Given the description of an element on the screen output the (x, y) to click on. 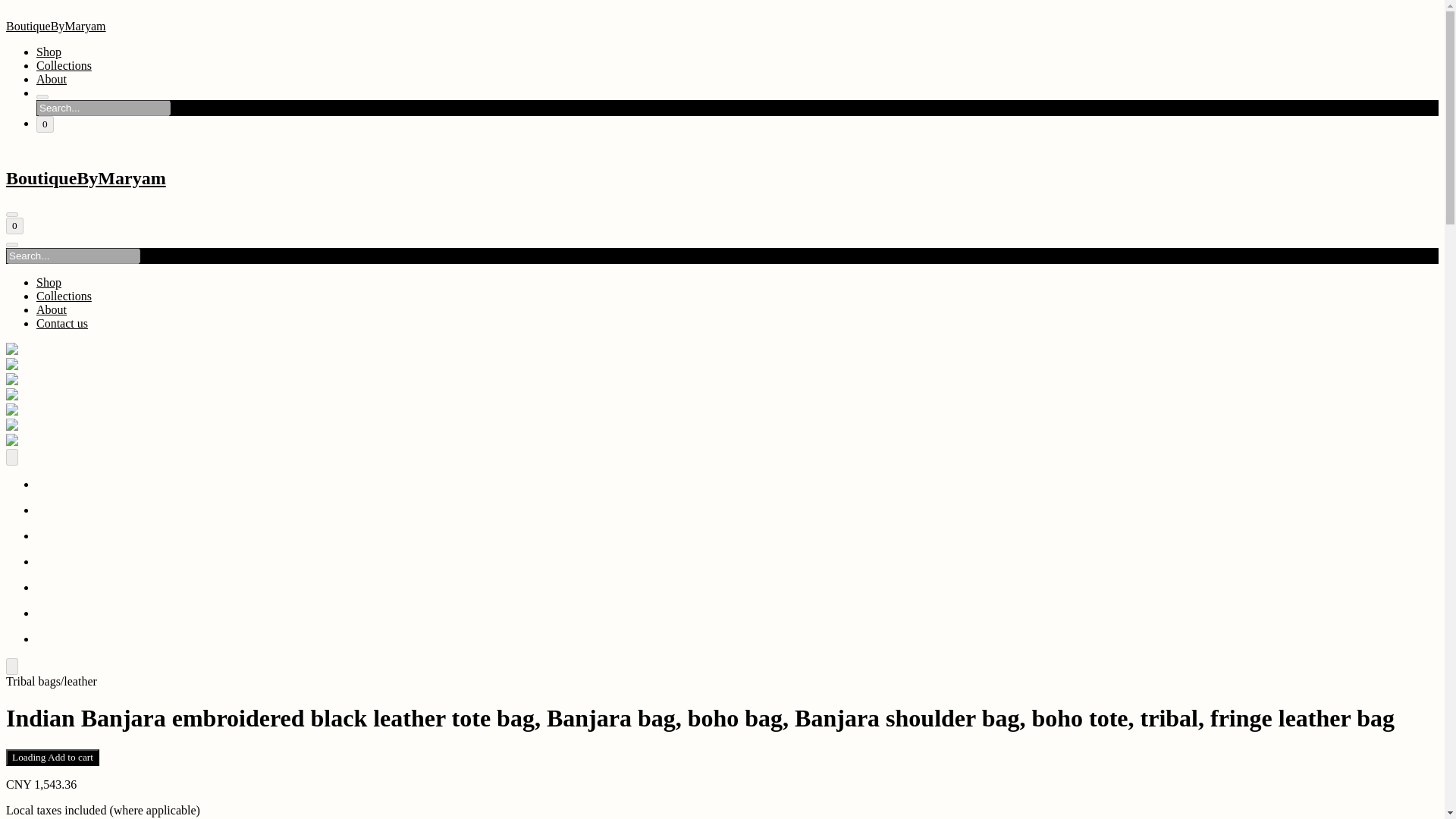
Shop (48, 51)
Contact us (61, 323)
Loading Add to cart (52, 757)
Shop (48, 282)
Collections (63, 65)
About (51, 309)
Collections (63, 295)
About (51, 78)
0 (14, 225)
0 (44, 124)
